Given the description of an element on the screen output the (x, y) to click on. 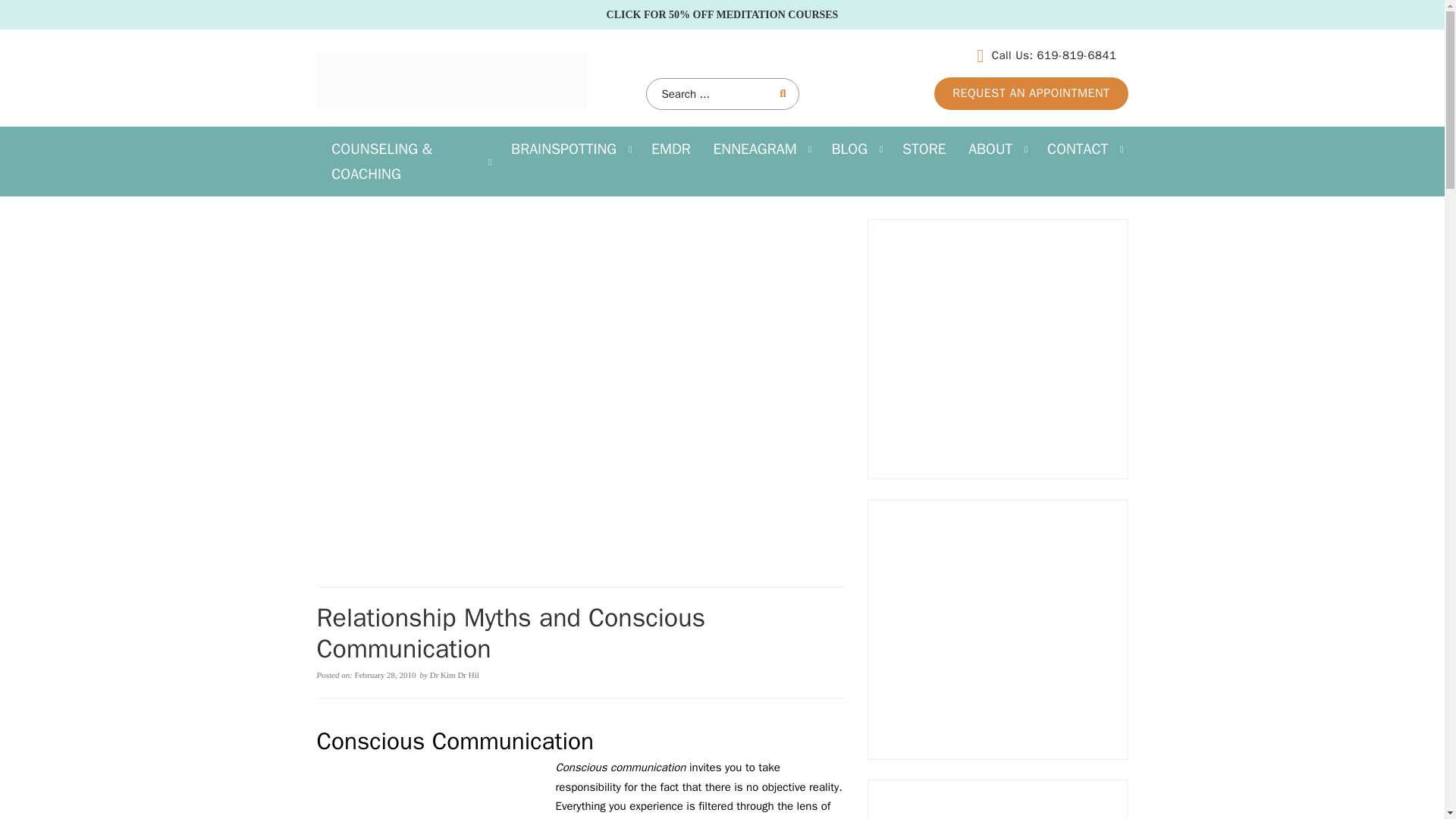
EMDR (670, 148)
ENNEAGRAM (755, 148)
STORE (924, 148)
ABOUT (990, 148)
BRAINSPOTTING (563, 148)
Call Us: 619-819-6841 (1045, 56)
BLOG (849, 148)
RelationshipMyths (430, 791)
